Given the description of an element on the screen output the (x, y) to click on. 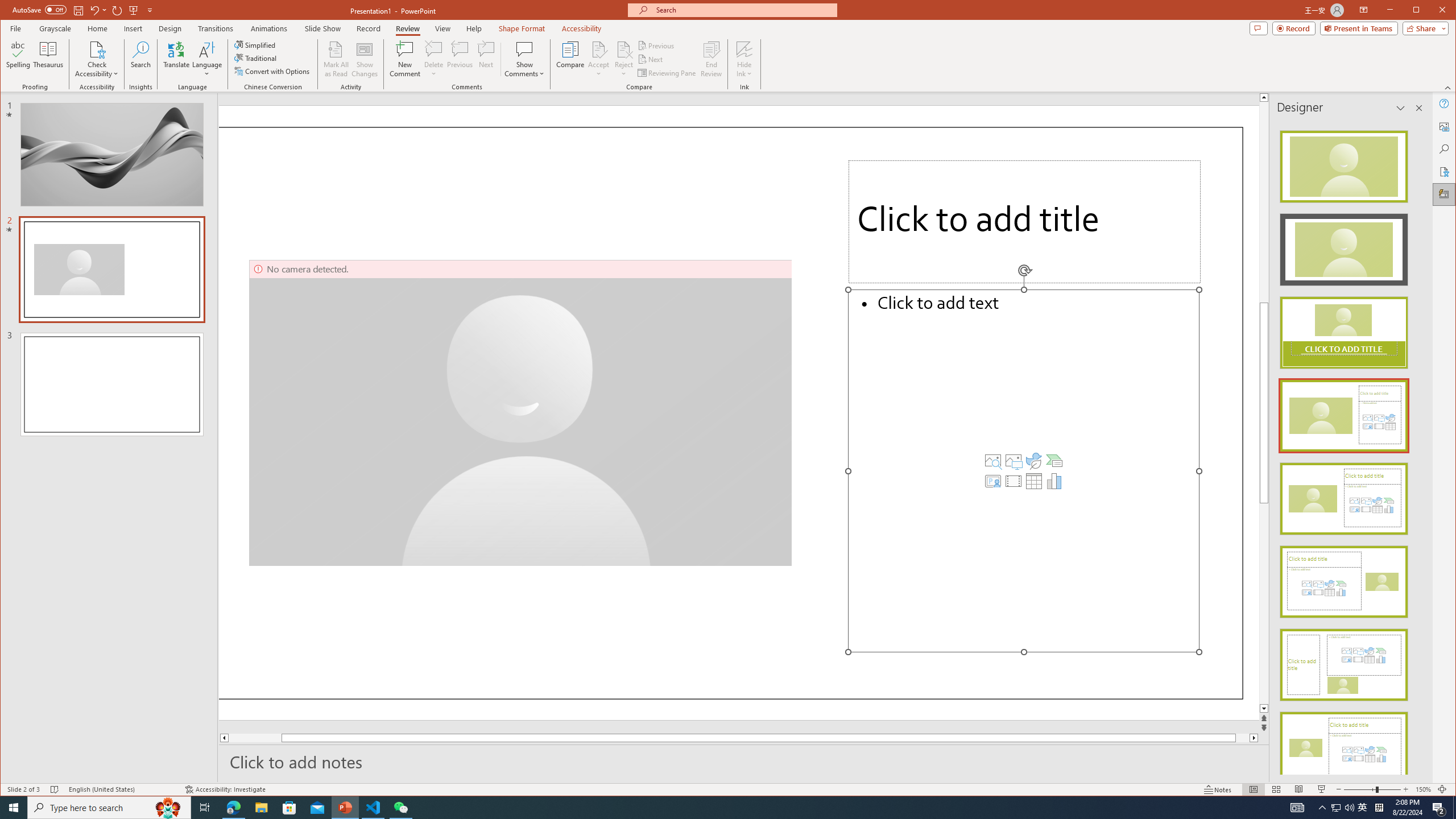
Previous (657, 45)
Insert a SmartArt Graphic (1053, 460)
Insert Chart (1053, 480)
Stock Images (992, 460)
